Given the description of an element on the screen output the (x, y) to click on. 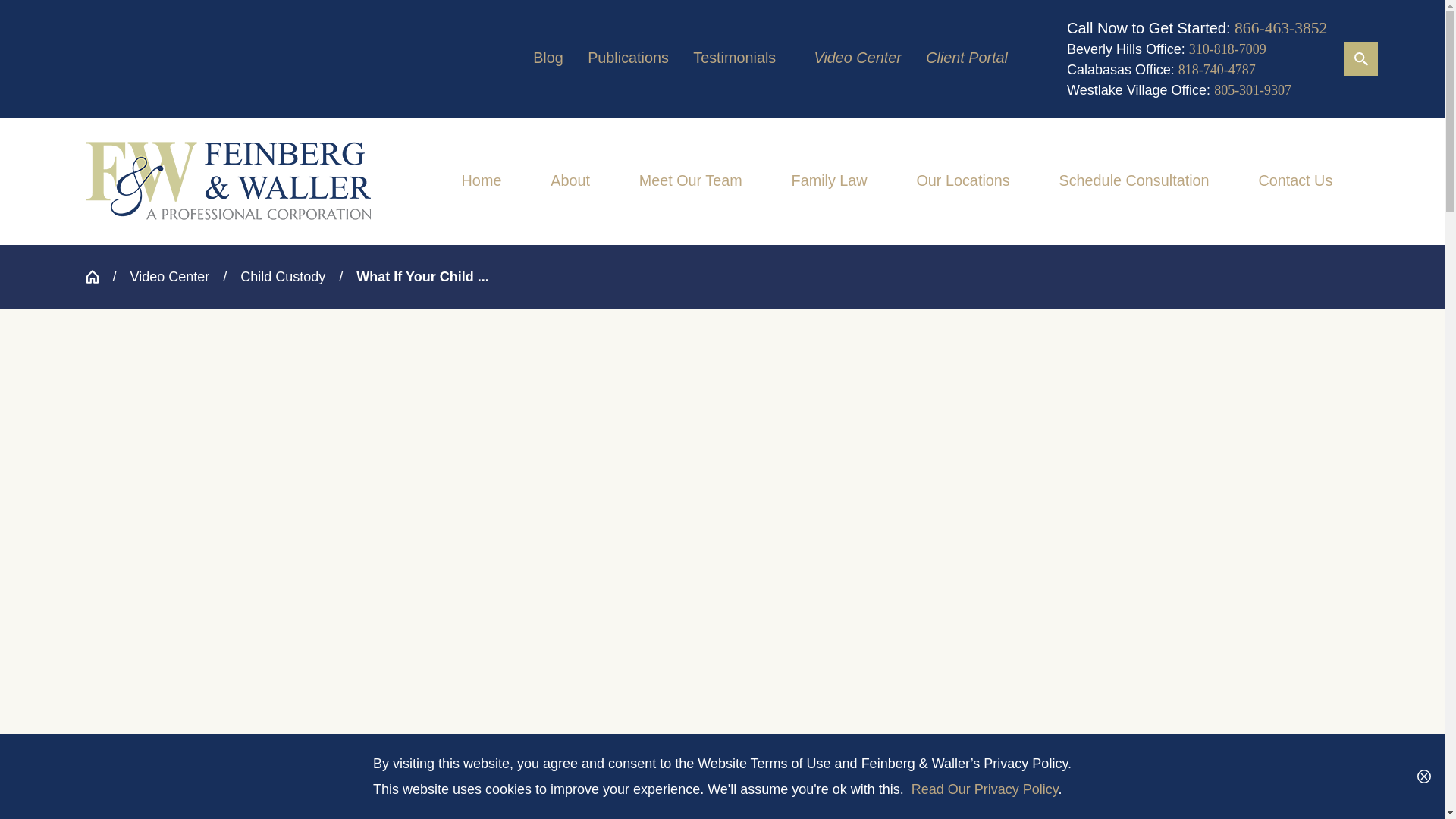
Blog (547, 57)
866-463-3852 (1280, 27)
Open the accessibility options menu (1412, 786)
818-740-4787 (1216, 69)
Testimonials (734, 57)
Search Our Site (1360, 58)
Search Icon (1361, 58)
310-818-7009 (1227, 48)
Video Center (857, 57)
805-301-9307 (1252, 89)
